Given the description of an element on the screen output the (x, y) to click on. 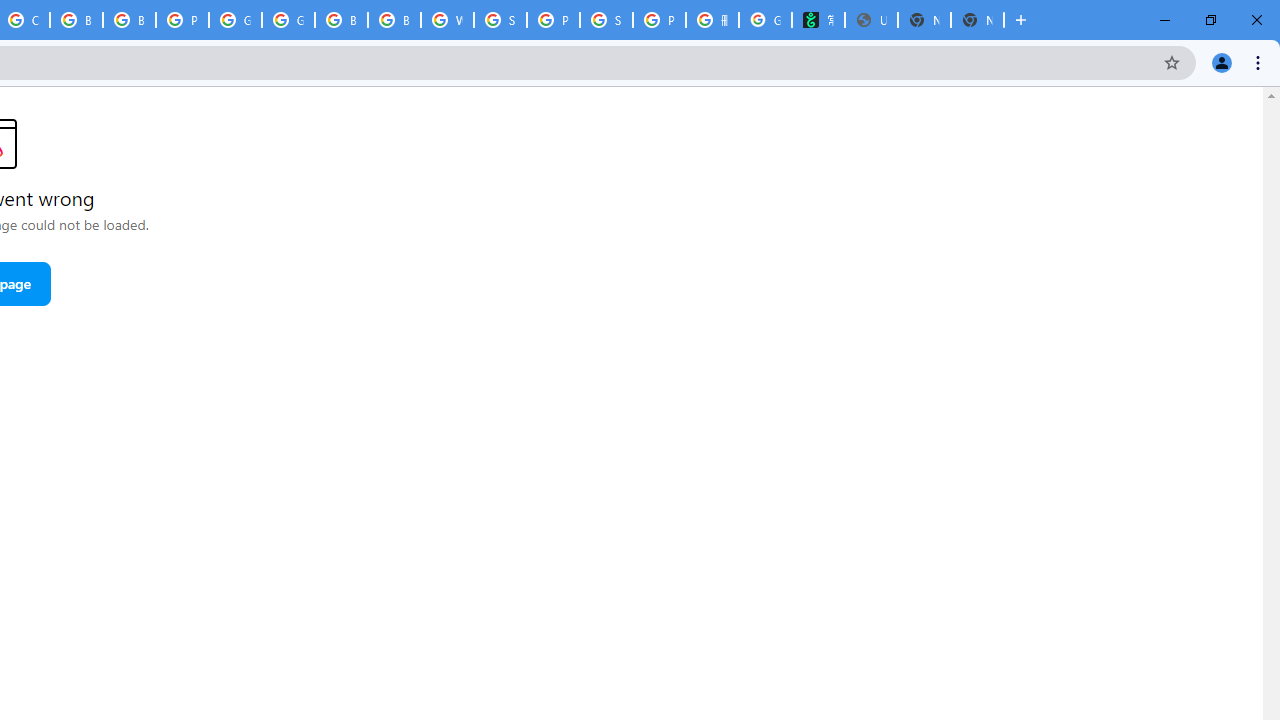
Sign in - Google Accounts (500, 20)
Google Cloud Platform (288, 20)
Browse Chrome as a guest - Computer - Google Chrome Help (341, 20)
New Tab (977, 20)
